Given the description of an element on the screen output the (x, y) to click on. 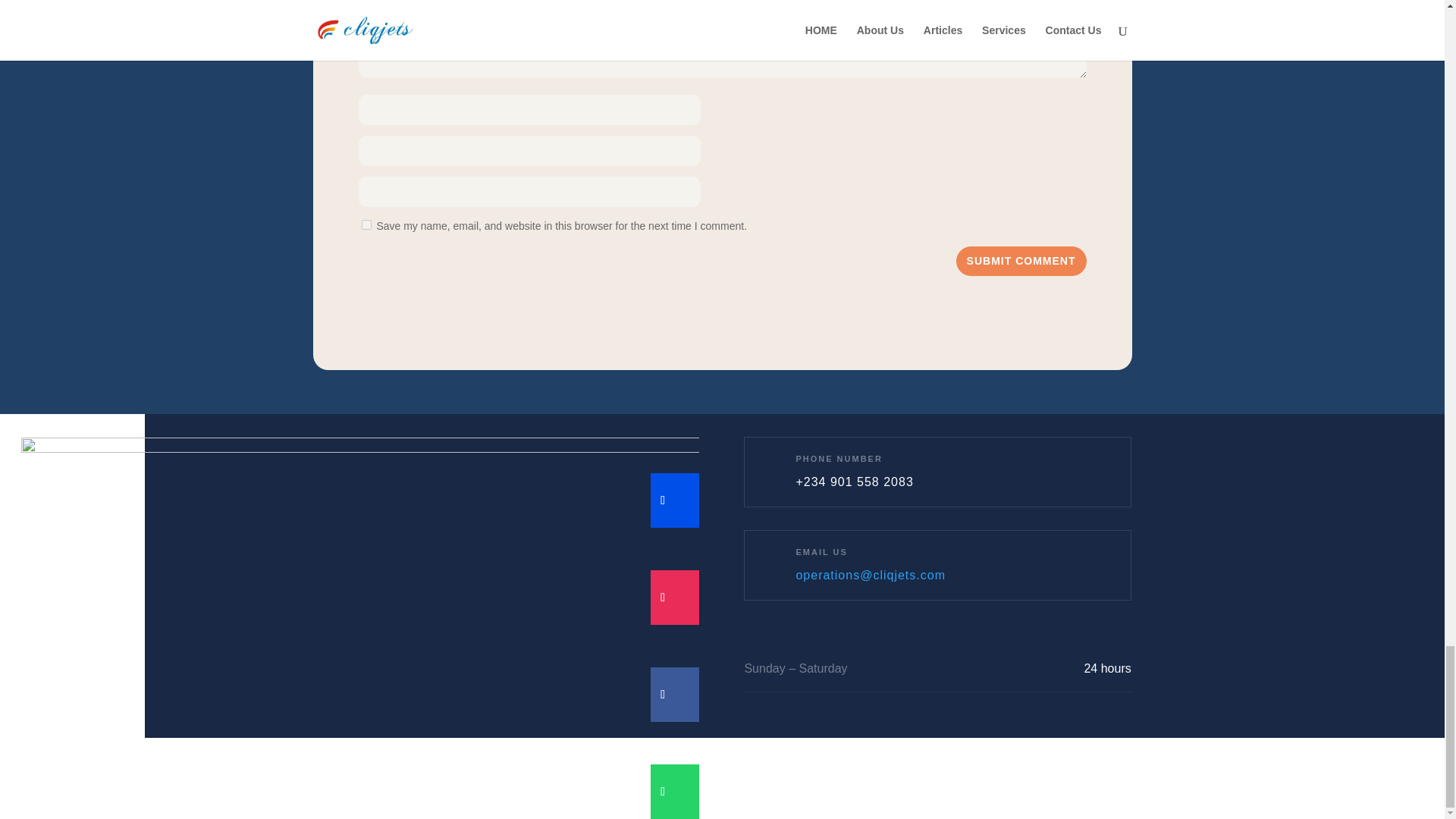
Follow on WhatsApp (662, 791)
yes (366, 225)
Follow on Facebook (662, 694)
